Given the description of an element on the screen output the (x, y) to click on. 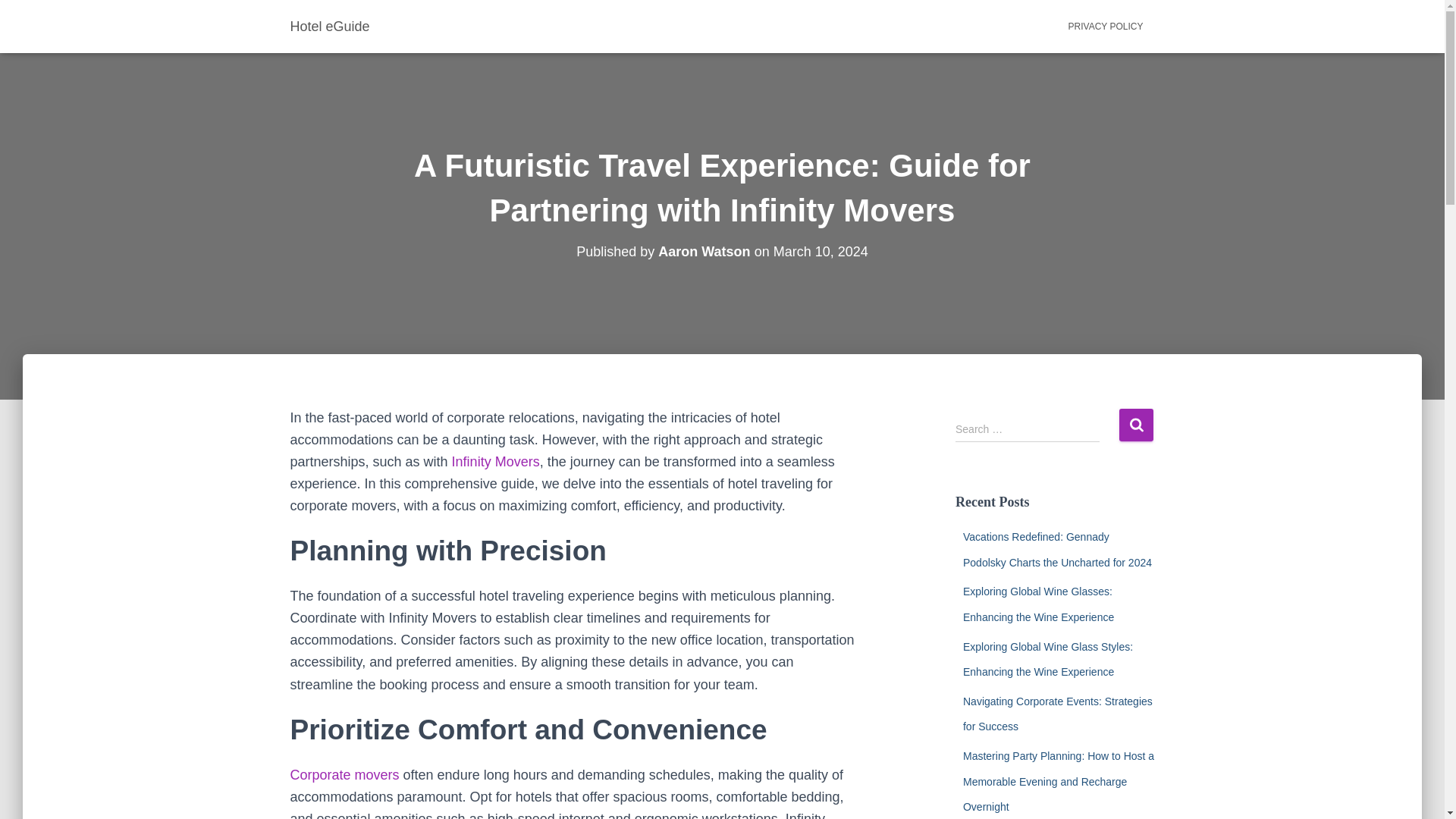
PRIVACY POLICY (1105, 26)
Aaron Watson (703, 251)
Hotel eGuide (330, 26)
Exploring Global Wine Glasses: Enhancing the Wine Experience (1037, 604)
Search (1136, 424)
Search (1136, 424)
Search (1136, 424)
Navigating Corporate Events: Strategies for Success (1057, 714)
